Given the description of an element on the screen output the (x, y) to click on. 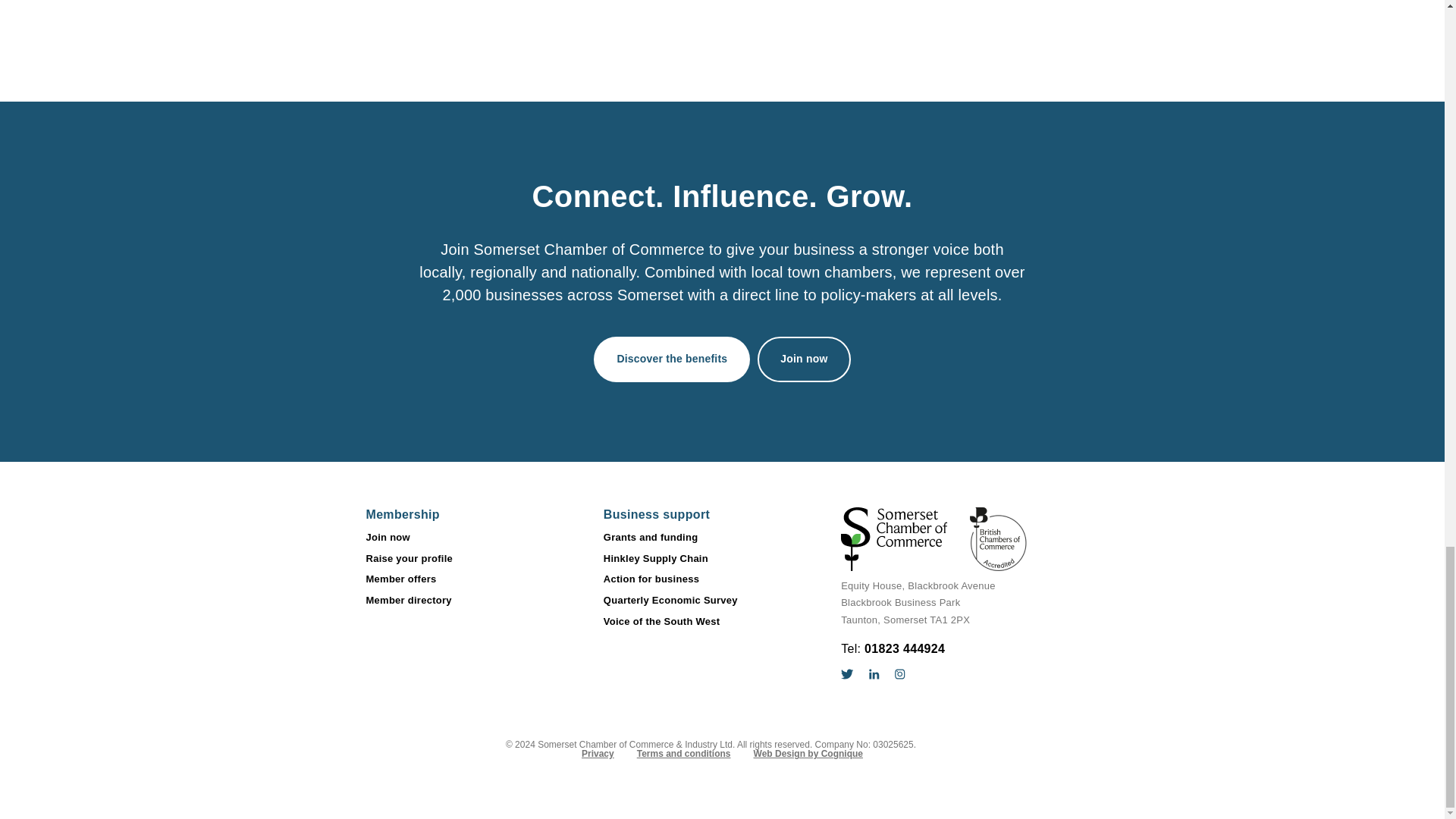
Somerset Chamber (933, 538)
